Given the description of an element on the screen output the (x, y) to click on. 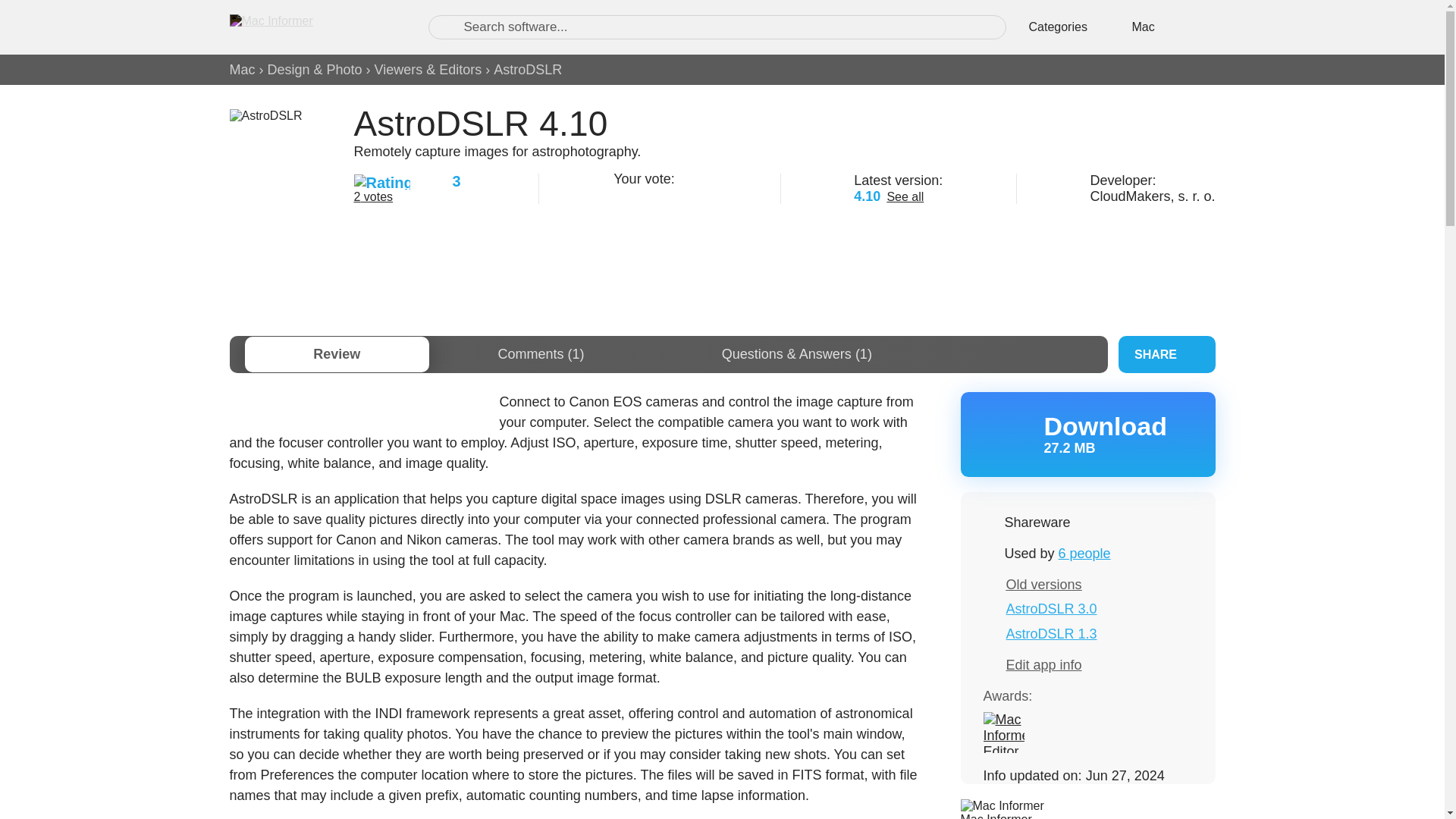
3 (658, 193)
Mac Informer (994, 816)
Search (447, 27)
AstroDSLR 1.3 (1051, 633)
6 people (1084, 553)
Download AstroDSLR (1086, 434)
1 (620, 193)
Software downloads and reviews (312, 26)
Search software... (717, 27)
Old versions (1043, 584)
Review (336, 354)
AstroDSLR (527, 69)
Review (336, 354)
